Given the description of an element on the screen output the (x, y) to click on. 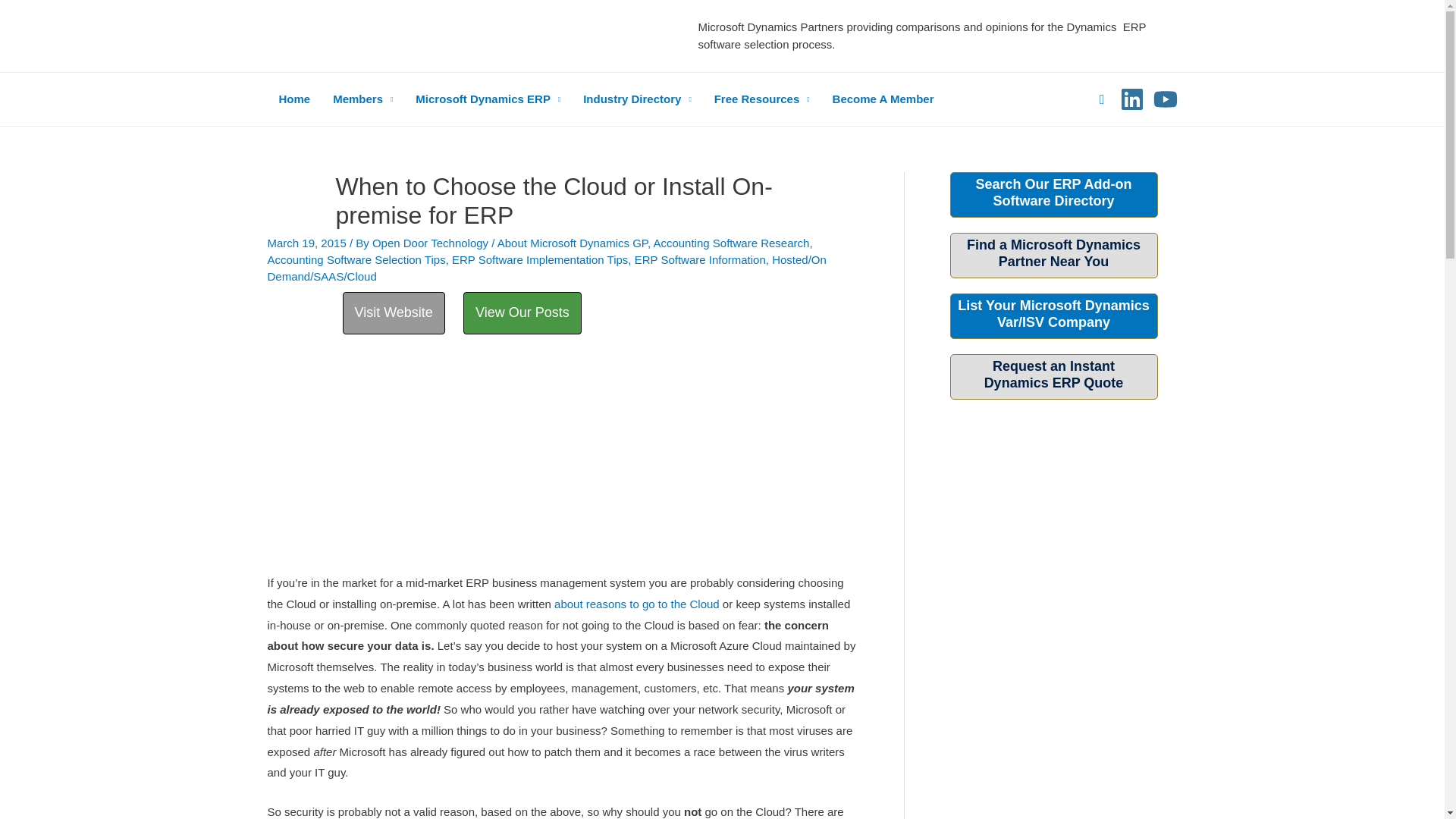
Request an instant Microsoft Dynamics GP Quote (1054, 374)
View all posts by Open Door Technology (432, 242)
Home (293, 99)
Industry Directory (637, 99)
Microsoft Dynamics ERP (488, 99)
Members (362, 99)
Find a Microsoft Dynamics Partner near you (1053, 314)
ERP Add-on Directory (1053, 192)
Find a Microsoft Dynamics Partner near you (1053, 253)
